Given the description of an element on the screen output the (x, y) to click on. 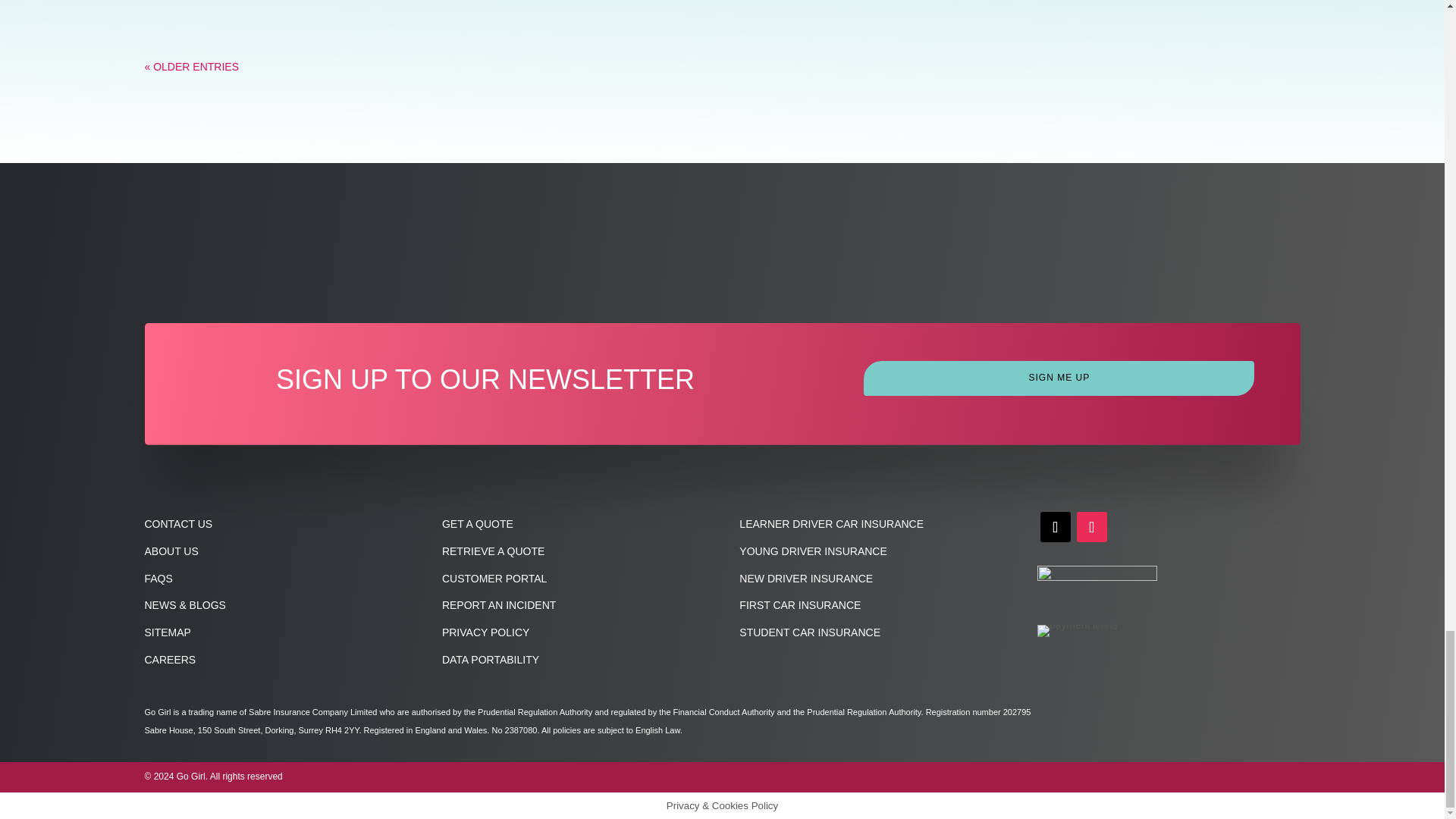
Follow on X (1055, 526)
Follow on Instagram (1091, 526)
payment icons (1077, 630)
reviews-trust-logo-1 (1096, 586)
